Given the description of an element on the screen output the (x, y) to click on. 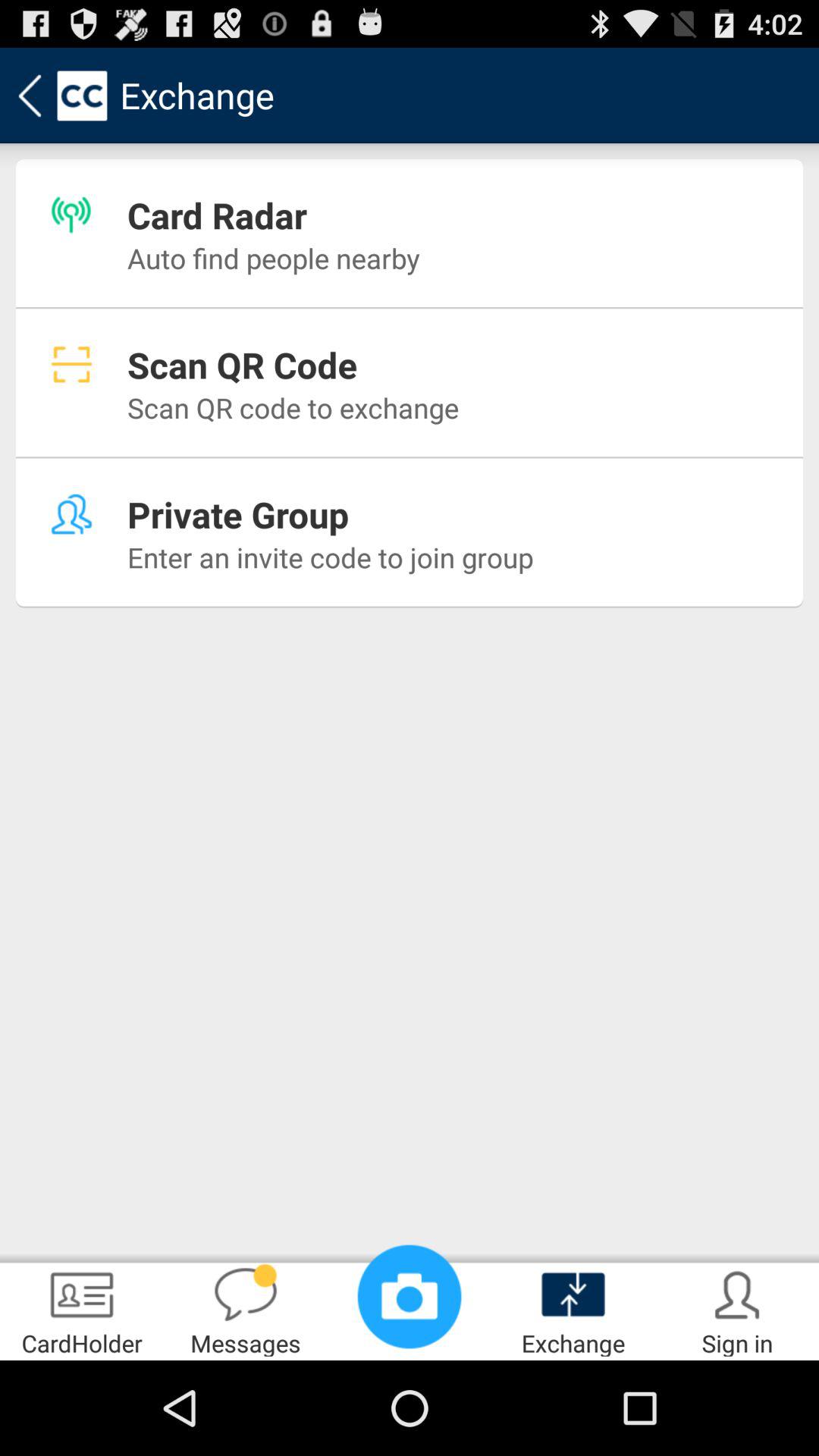
swipe until the cardholder item (81, 1309)
